Given the description of an element on the screen output the (x, y) to click on. 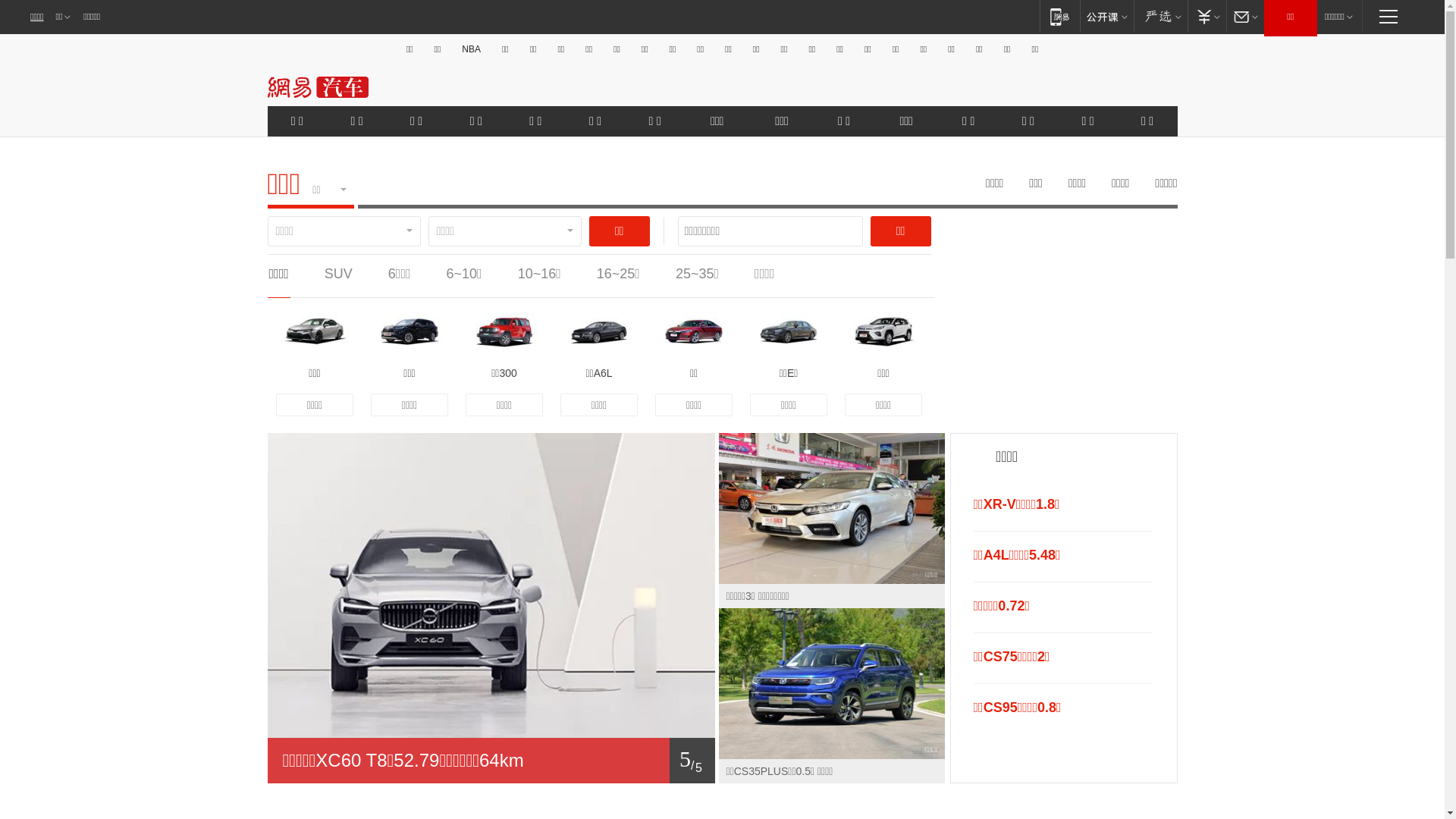
1/ 5 Element type: text (490, 760)
SUV Element type: text (338, 273)
NBA Element type: text (471, 48)
